Given the description of an element on the screen output the (x, y) to click on. 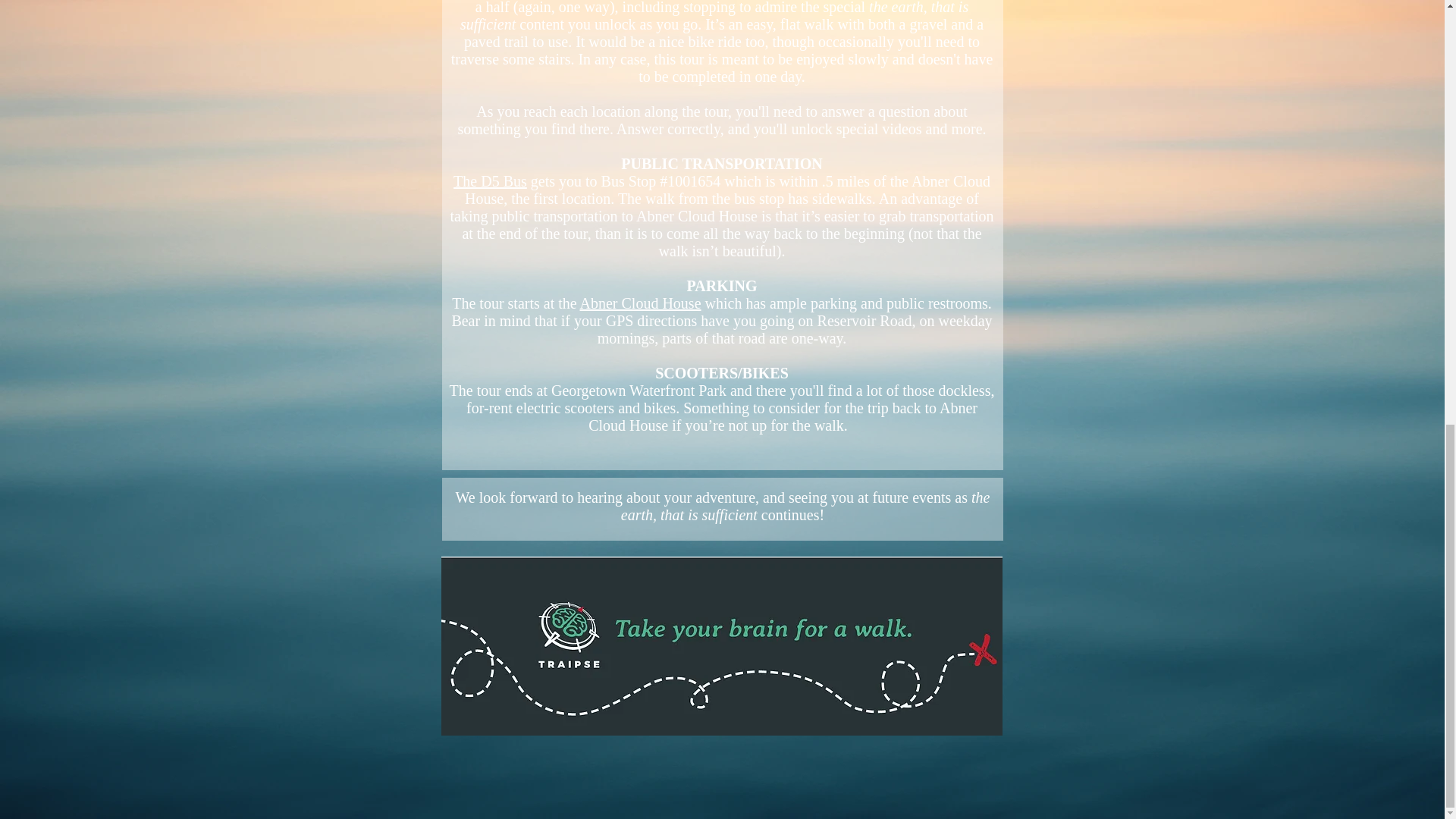
Abner Cloud House (640, 303)
The D5 Bus (489, 180)
